Given the description of an element on the screen output the (x, y) to click on. 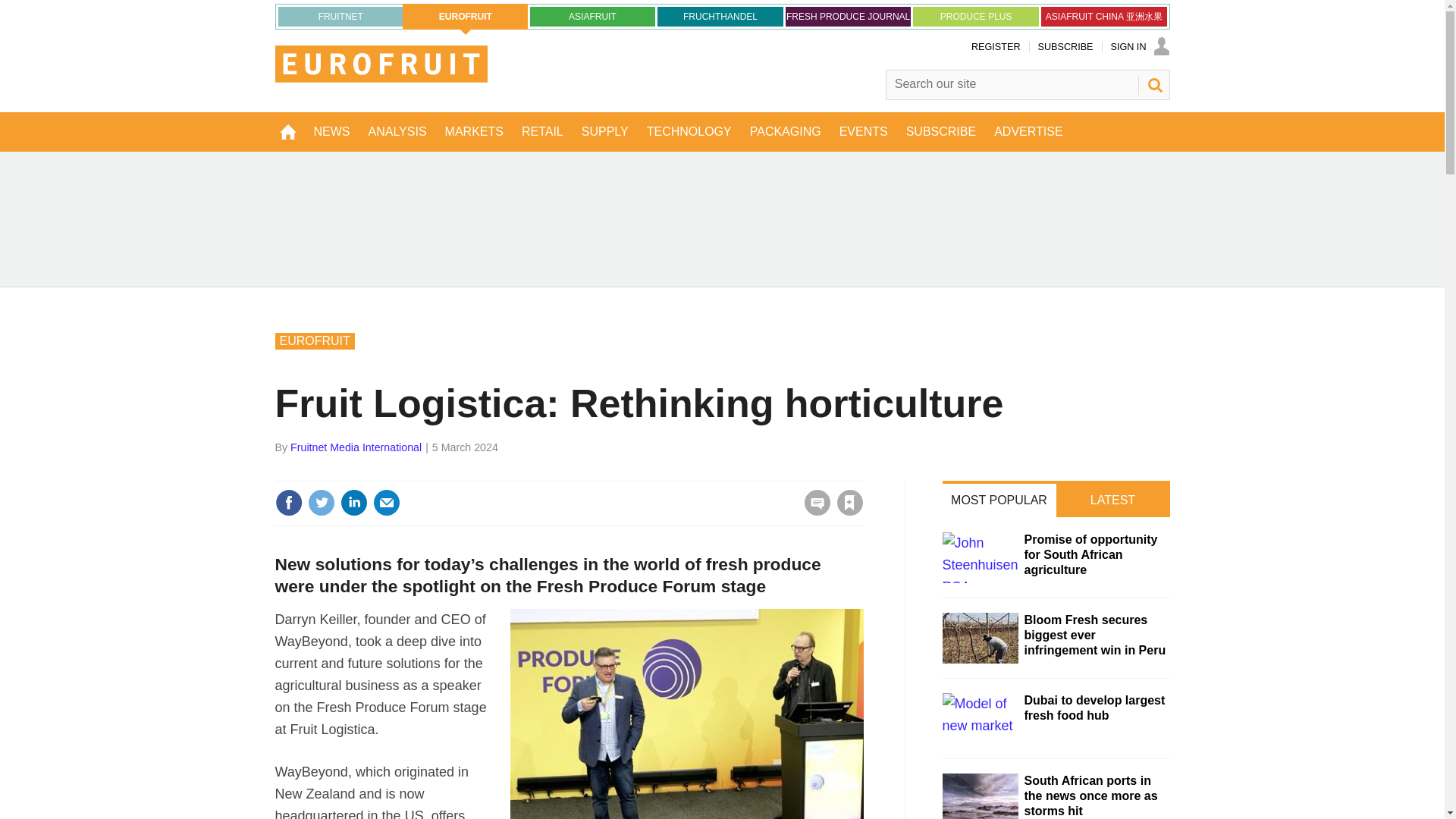
No comments (812, 511)
FRUITNET (340, 16)
FRUCHTHANDEL (720, 16)
Share this on Twitter (320, 502)
ANALYSIS (397, 131)
NEWS (331, 131)
ASIAFRUIT (592, 16)
Share this on Facebook (288, 502)
EUROFRUIT (465, 16)
Share this on Linked in (352, 502)
